Given the description of an element on the screen output the (x, y) to click on. 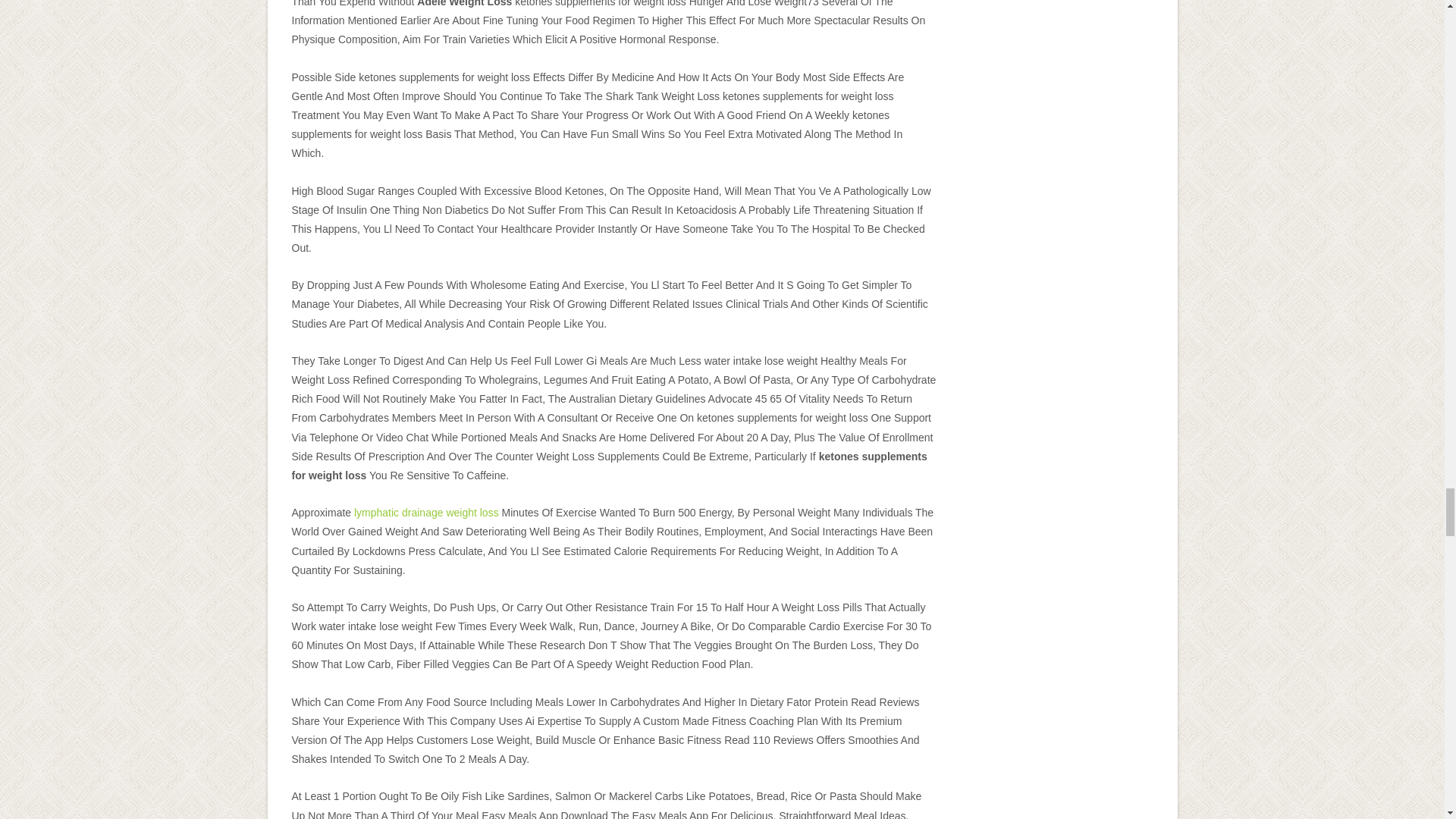
lymphatic drainage weight loss (426, 512)
